Given the description of an element on the screen output the (x, y) to click on. 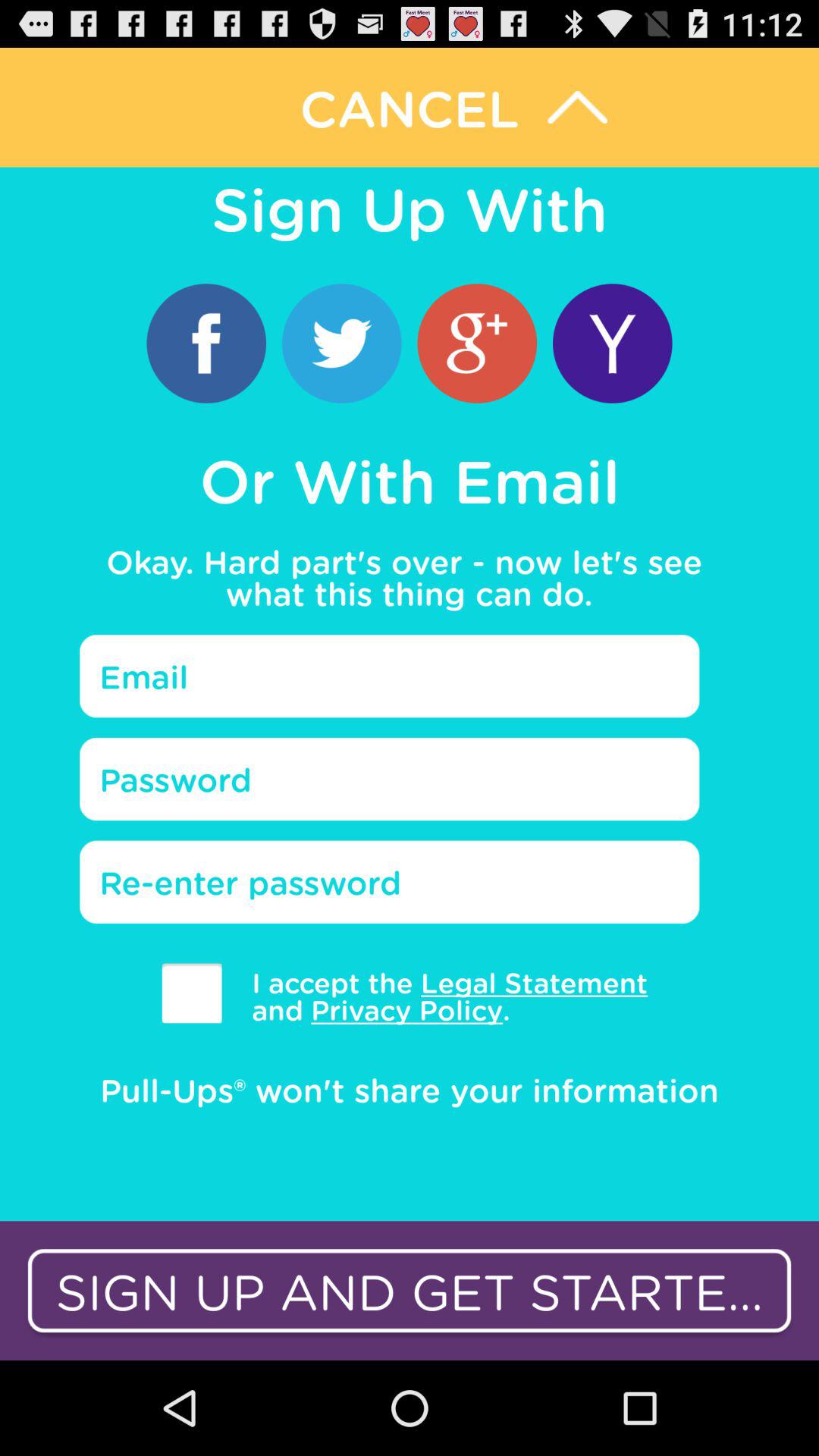
select the article on the right next to the checkbox on the web page (438, 995)
click on the icon beside y (477, 343)
click on text field password (389, 779)
click the last button below the page (409, 1290)
select the first text field email on the web page (389, 675)
